Given the description of an element on the screen output the (x, y) to click on. 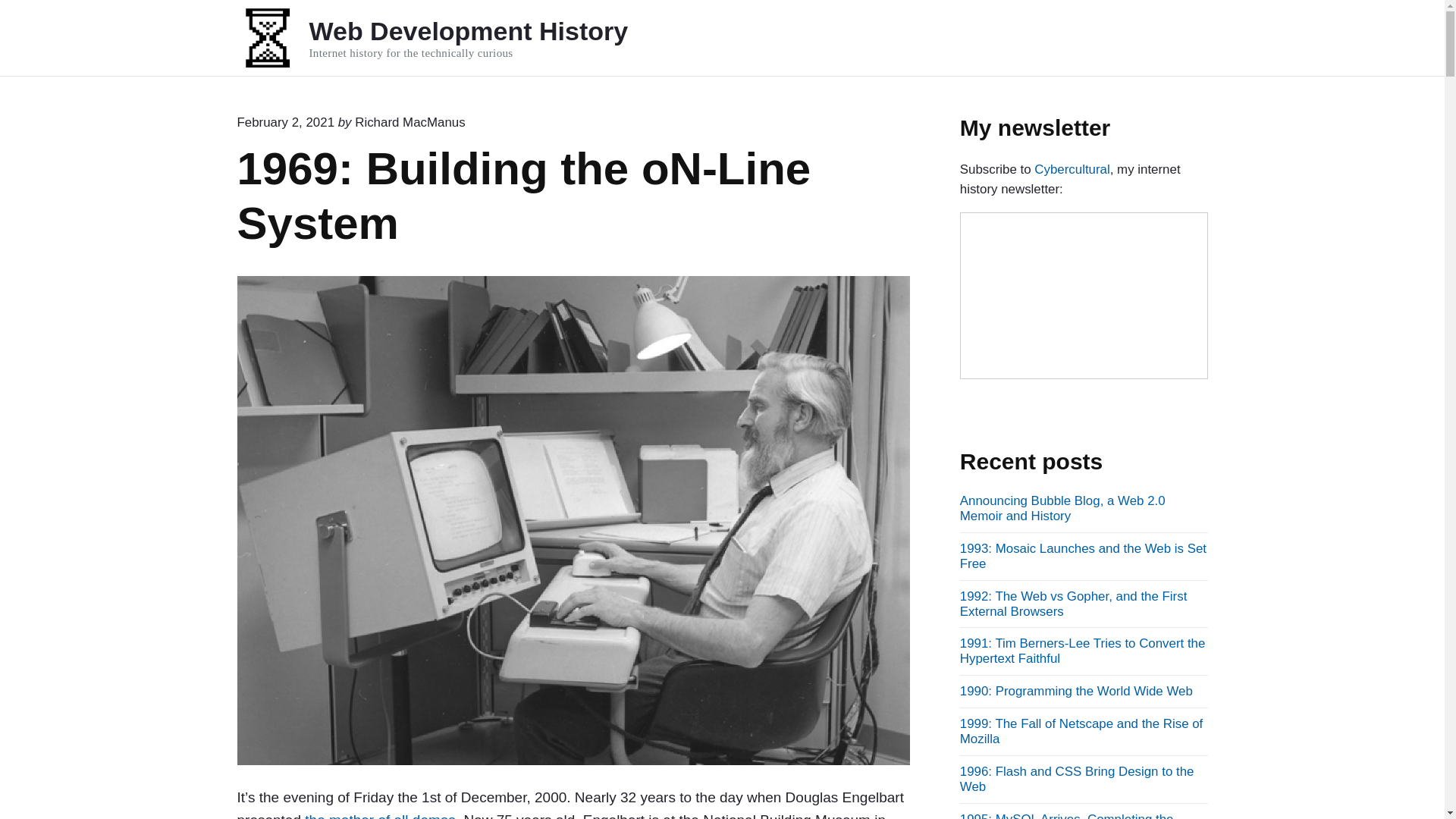
Announcing Bubble Blog, a Web 2.0 Memoir and History (1062, 508)
the mother of all demos (379, 815)
1993: Mosaic Launches and the Web is Set Free (1083, 555)
1999: The Fall of Netscape and the Rise of Mozilla (1081, 731)
1995: MySQL Arrives, Completing the LAMP Stack (1066, 815)
Tuesday, February 2, 2021, 2:34 pm (284, 122)
Cybercultural (1071, 169)
Richard MacManus (409, 122)
1996: Flash and CSS Bring Design to the Web (1076, 778)
1992: The Web vs Gopher, and the First External Browsers (1073, 603)
